Given the description of an element on the screen output the (x, y) to click on. 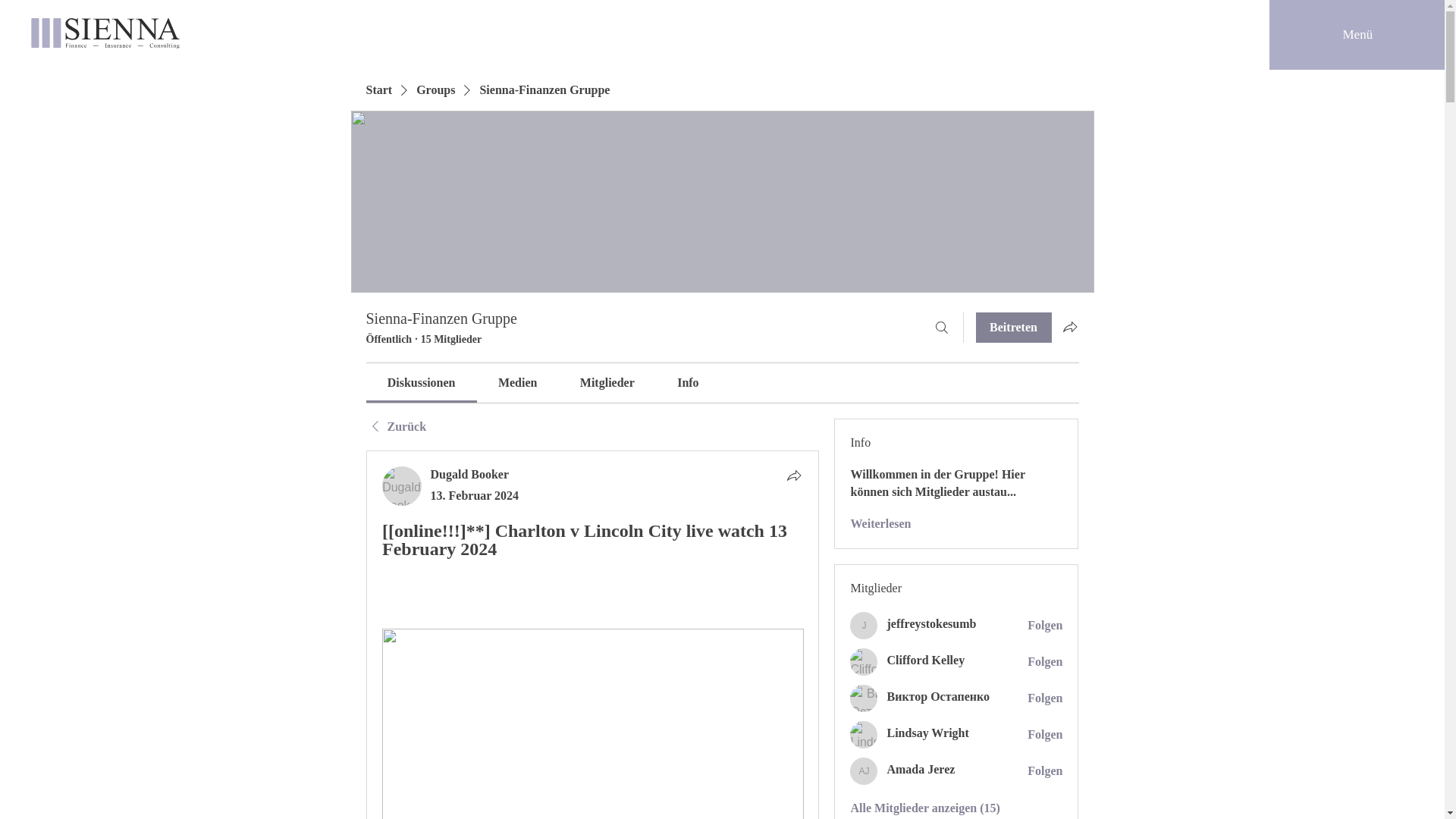
Lindsay Wright (863, 734)
Weiterlesen (880, 523)
Folgen (1044, 698)
jeffreystokesumb (863, 625)
Clifford Kelley (863, 661)
Dugald Booker (469, 473)
Groups (435, 89)
Folgen (1044, 770)
jeffreystokesumb (930, 623)
Start (378, 89)
